Given the description of an element on the screen output the (x, y) to click on. 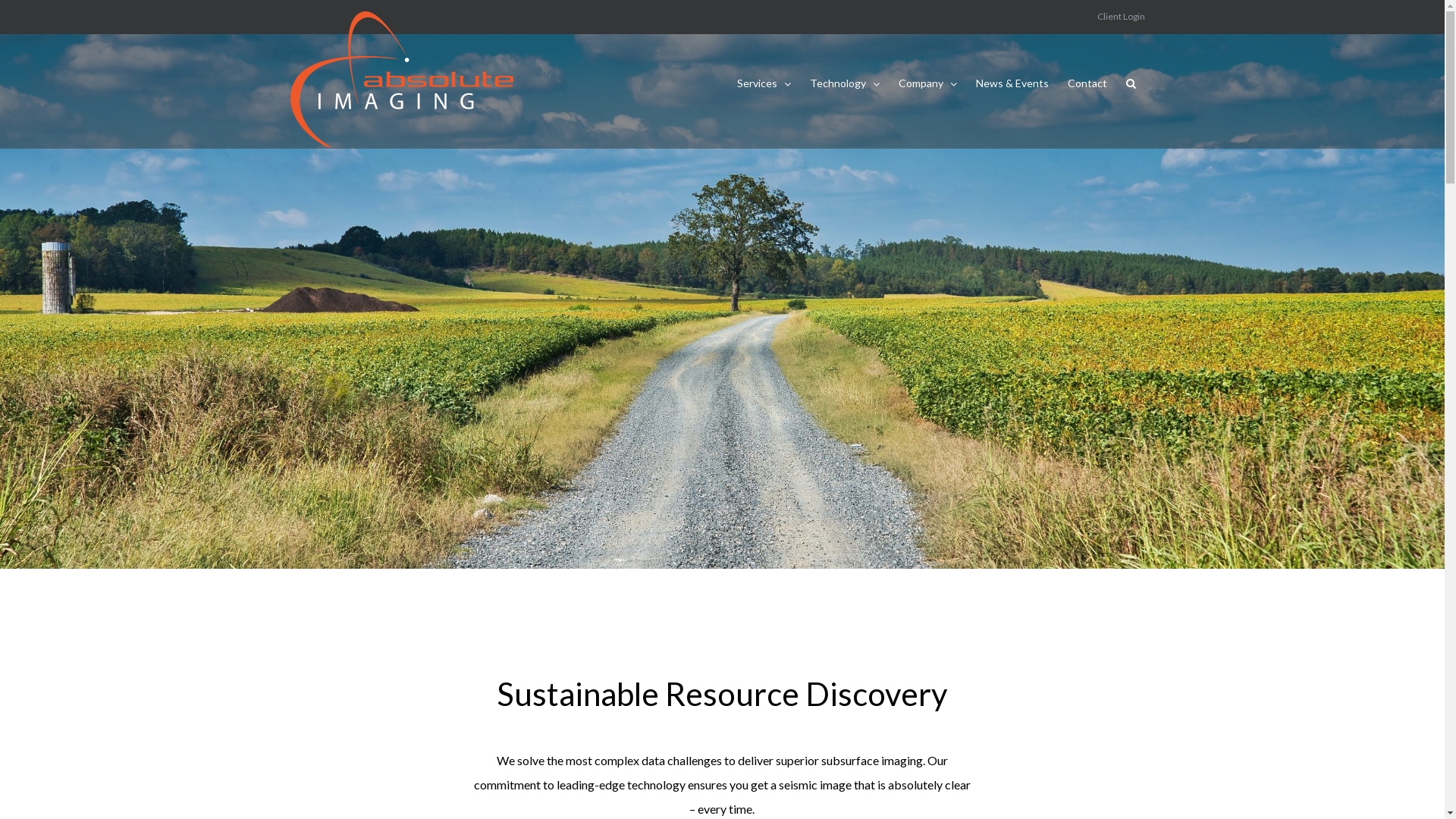
Technology Element type: text (844, 83)
Client Login Element type: text (1120, 16)
Company Element type: text (926, 83)
News & Events Element type: text (1011, 83)
Contact Element type: text (1087, 83)
Services Element type: text (763, 83)
Search Element type: hover (1130, 83)
